Given the description of an element on the screen output the (x, y) to click on. 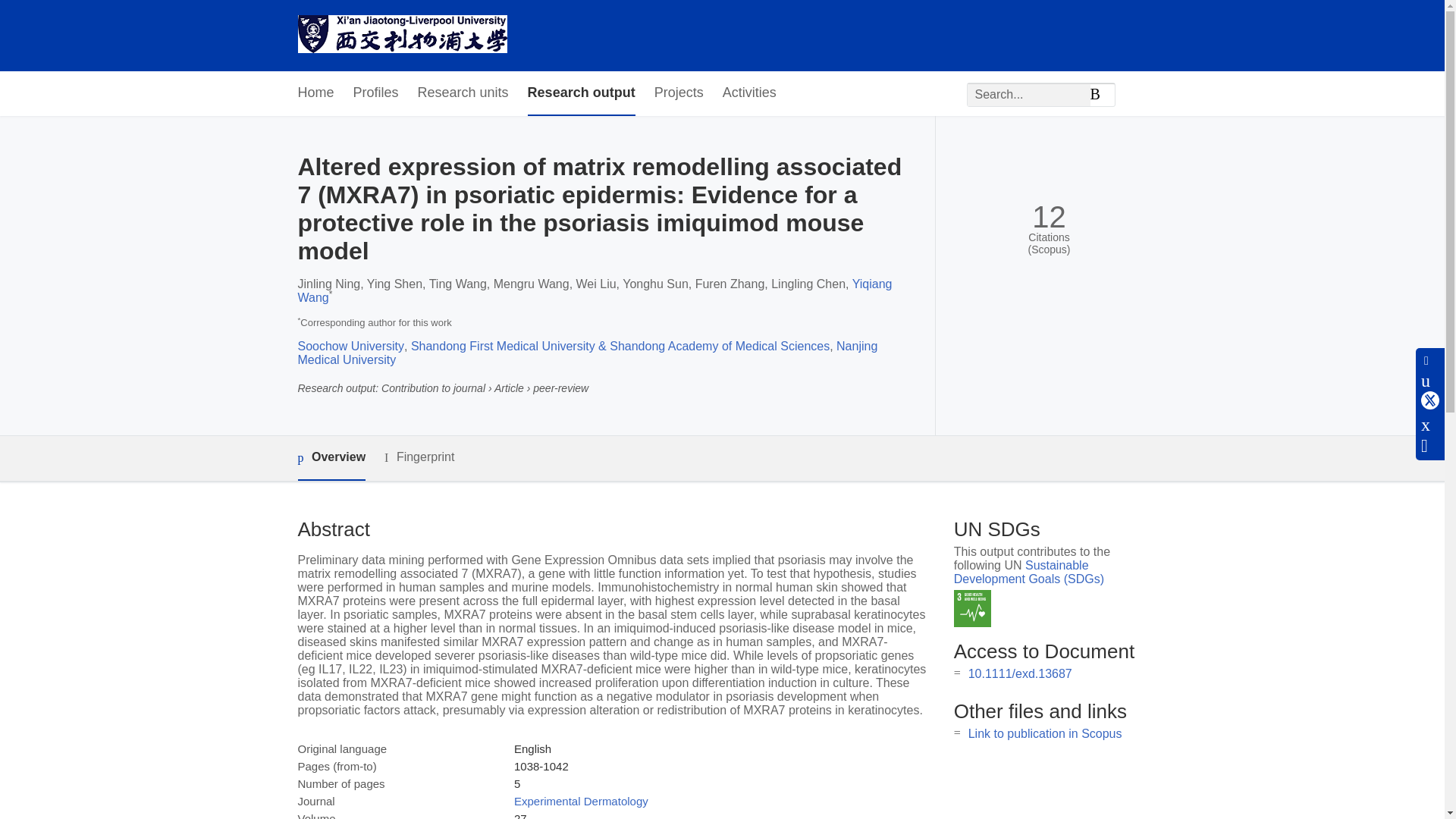
Research units (462, 93)
Link to publication in Scopus (1045, 733)
Soochow University (350, 345)
Projects (678, 93)
Activities (749, 93)
Nanjing Medical University (587, 352)
Fingerprint (419, 457)
Profiles (375, 93)
SDG 3 - Good Health and Well-being (972, 608)
Xi'an Jiaotong-Liverpool University Home (401, 35)
